Given the description of an element on the screen output the (x, y) to click on. 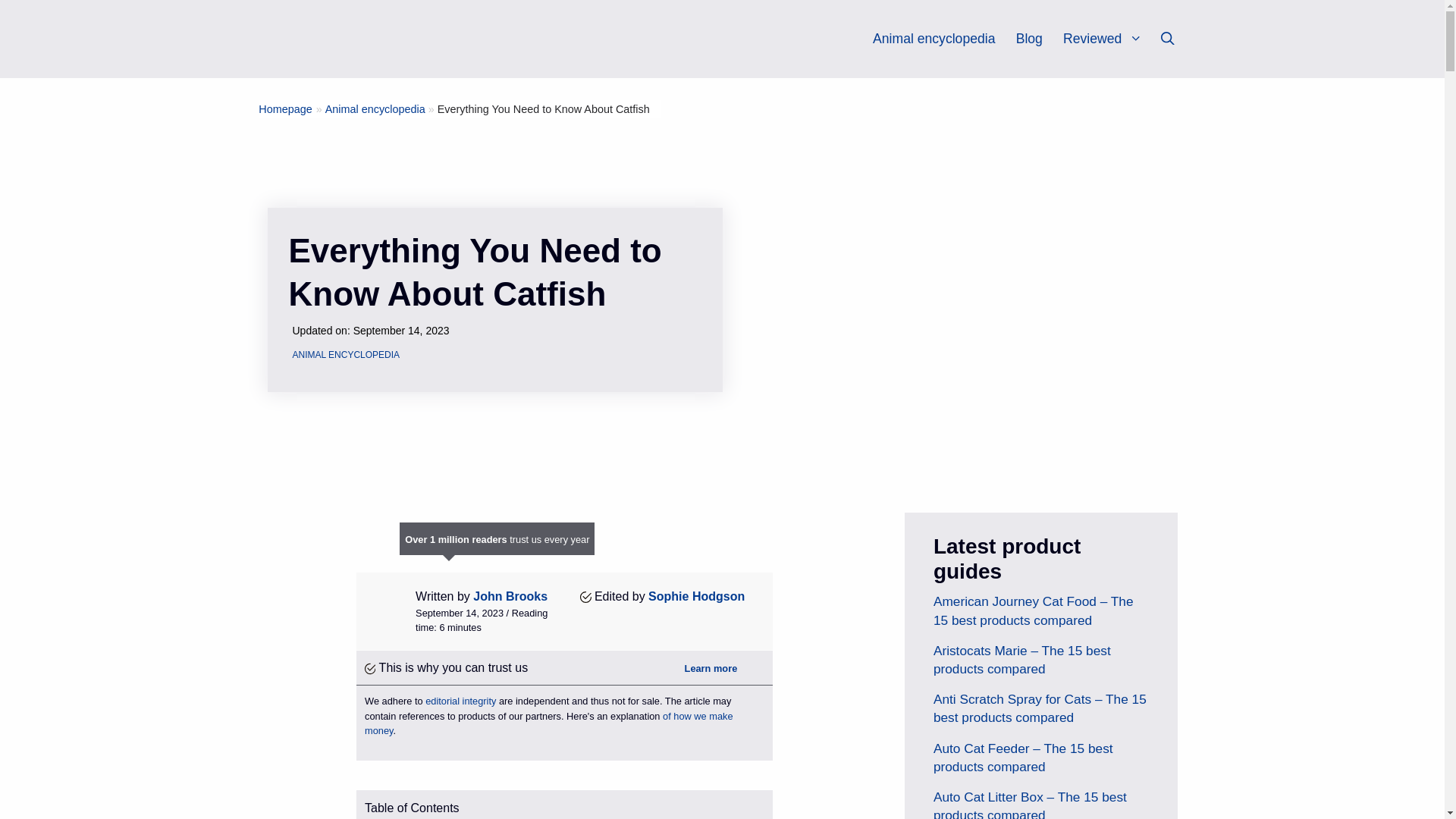
Everything You Need to Know About Catfish (543, 109)
Category Name (374, 109)
Author-Name (510, 595)
Animal encyclopedia (933, 39)
Author-Name (695, 595)
Reviewed (1108, 39)
